Given the description of an element on the screen output the (x, y) to click on. 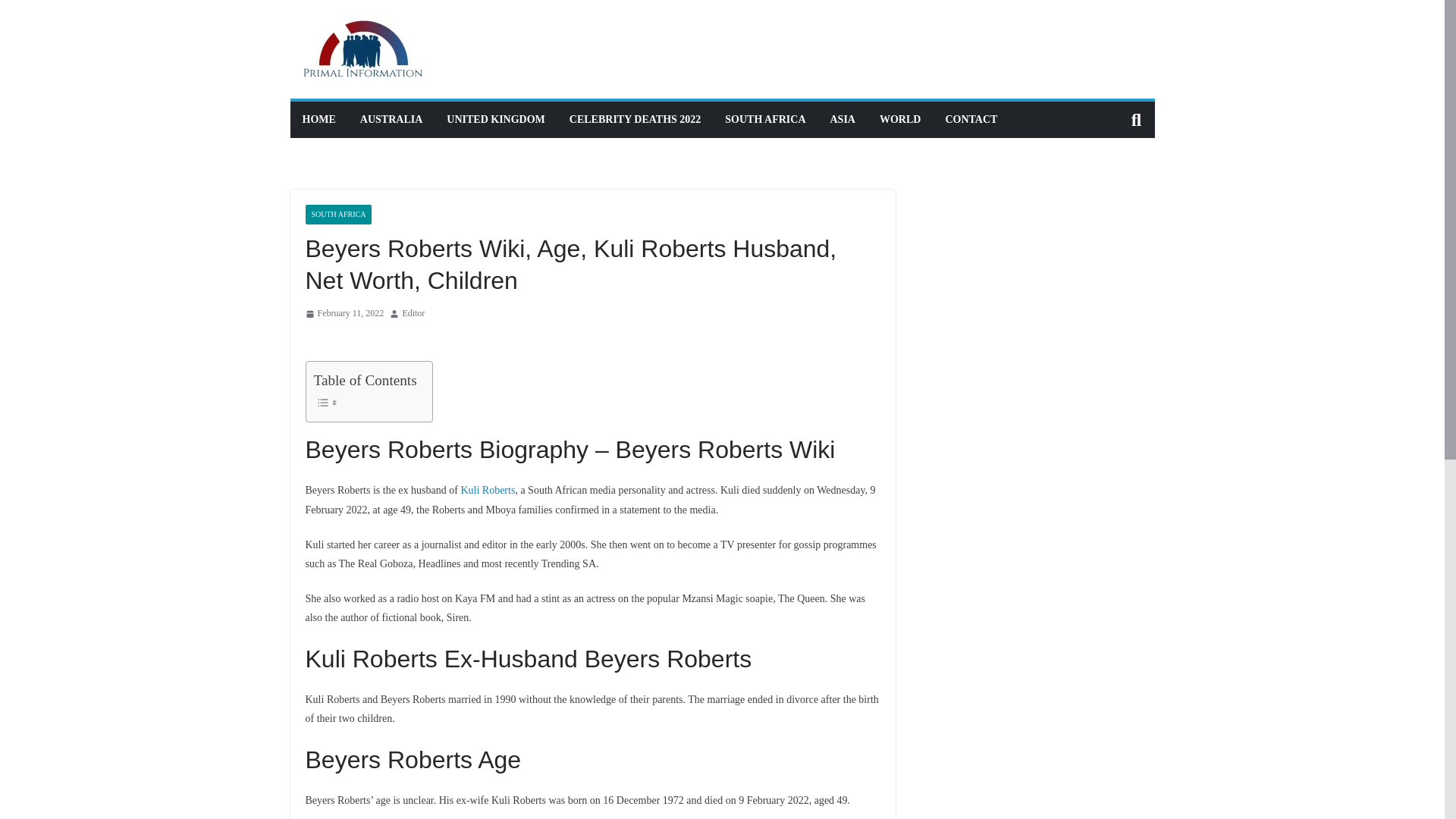
Editor (413, 313)
SOUTH AFRICA (337, 214)
UNITED KINGDOM (495, 119)
CELEBRITY DEATHS 2022 (634, 119)
February 11, 2022 (344, 313)
Editor (413, 313)
CONTACT (970, 119)
2:28 am (344, 313)
ASIA (841, 119)
Kuli Roberts (487, 490)
